Given the description of an element on the screen output the (x, y) to click on. 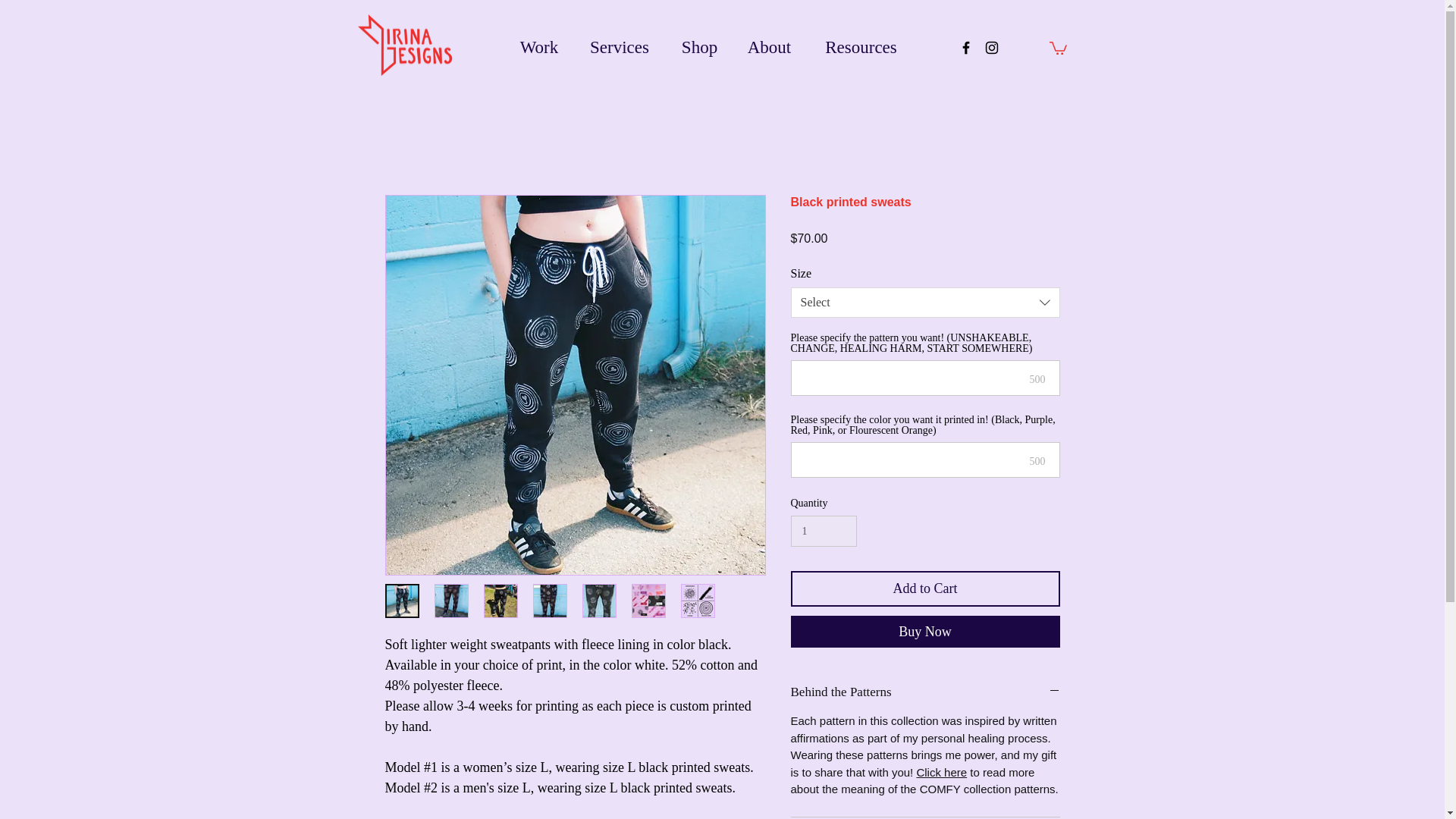
Resources (860, 47)
Select (924, 302)
About (769, 47)
Services (619, 47)
Shop (699, 47)
Buy Now (924, 631)
1 (823, 531)
Work (538, 47)
Click here (940, 771)
Add to Cart (924, 588)
Behind the Patterns (924, 691)
